Given the description of an element on the screen output the (x, y) to click on. 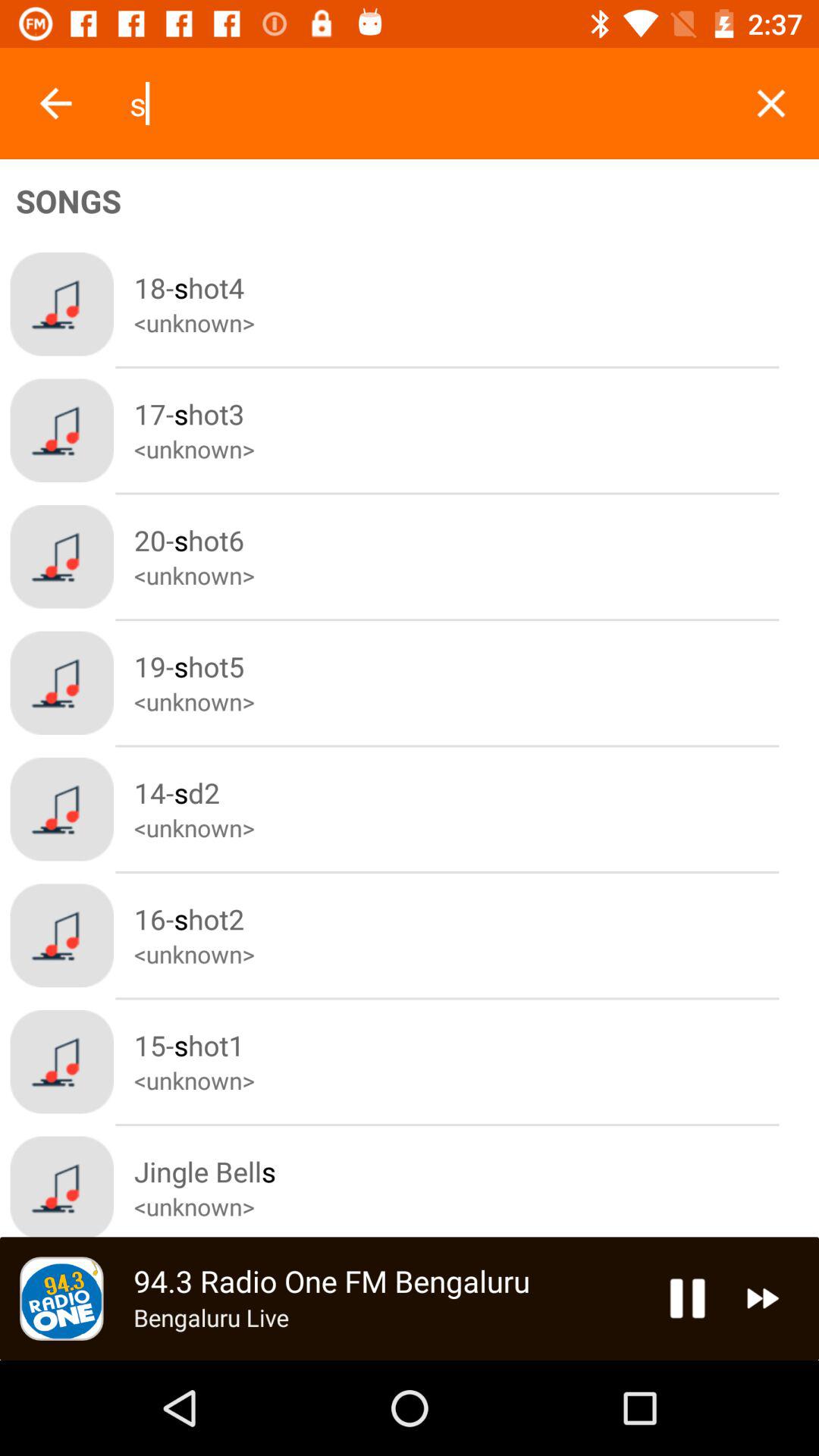
exit playlist (771, 103)
